Given the description of an element on the screen output the (x, y) to click on. 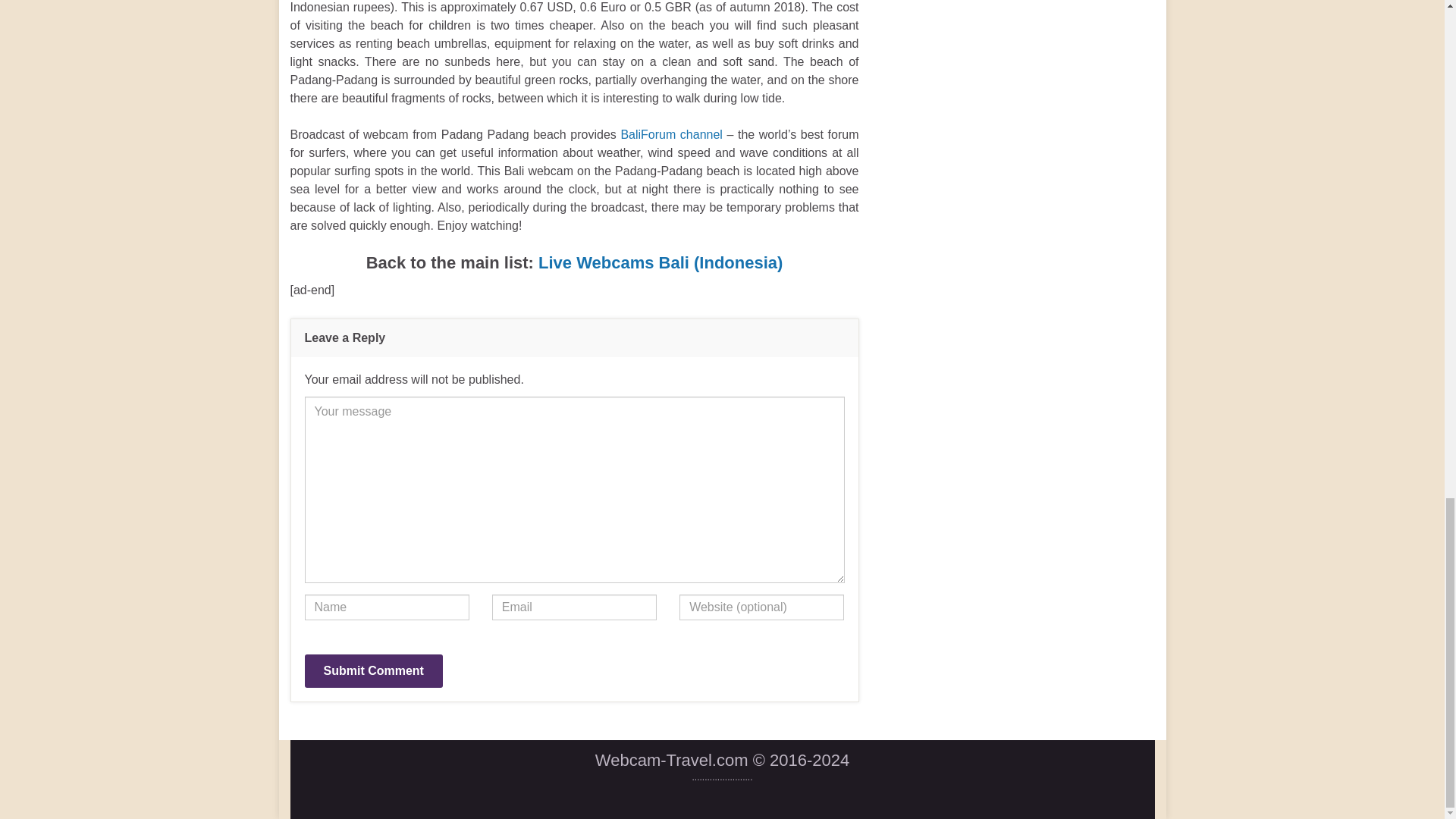
LiveInternet (721, 795)
BaliForum channel (671, 133)
Submit Comment (373, 670)
Submit Comment (373, 670)
